Given the description of an element on the screen output the (x, y) to click on. 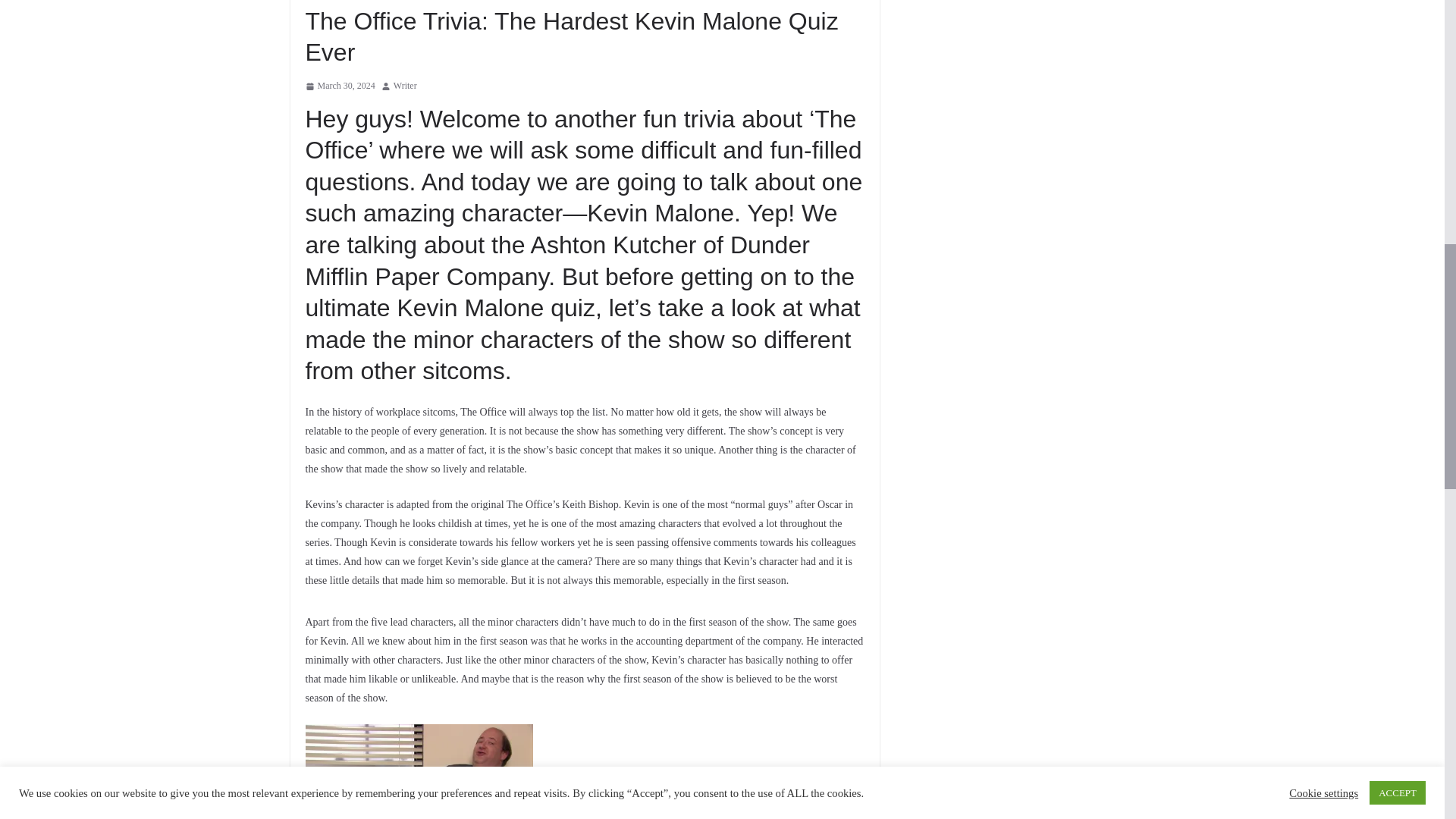
March 30, 2024 (339, 86)
Writer (404, 86)
Writer (404, 86)
3:12 AM (339, 86)
